Given the description of an element on the screen output the (x, y) to click on. 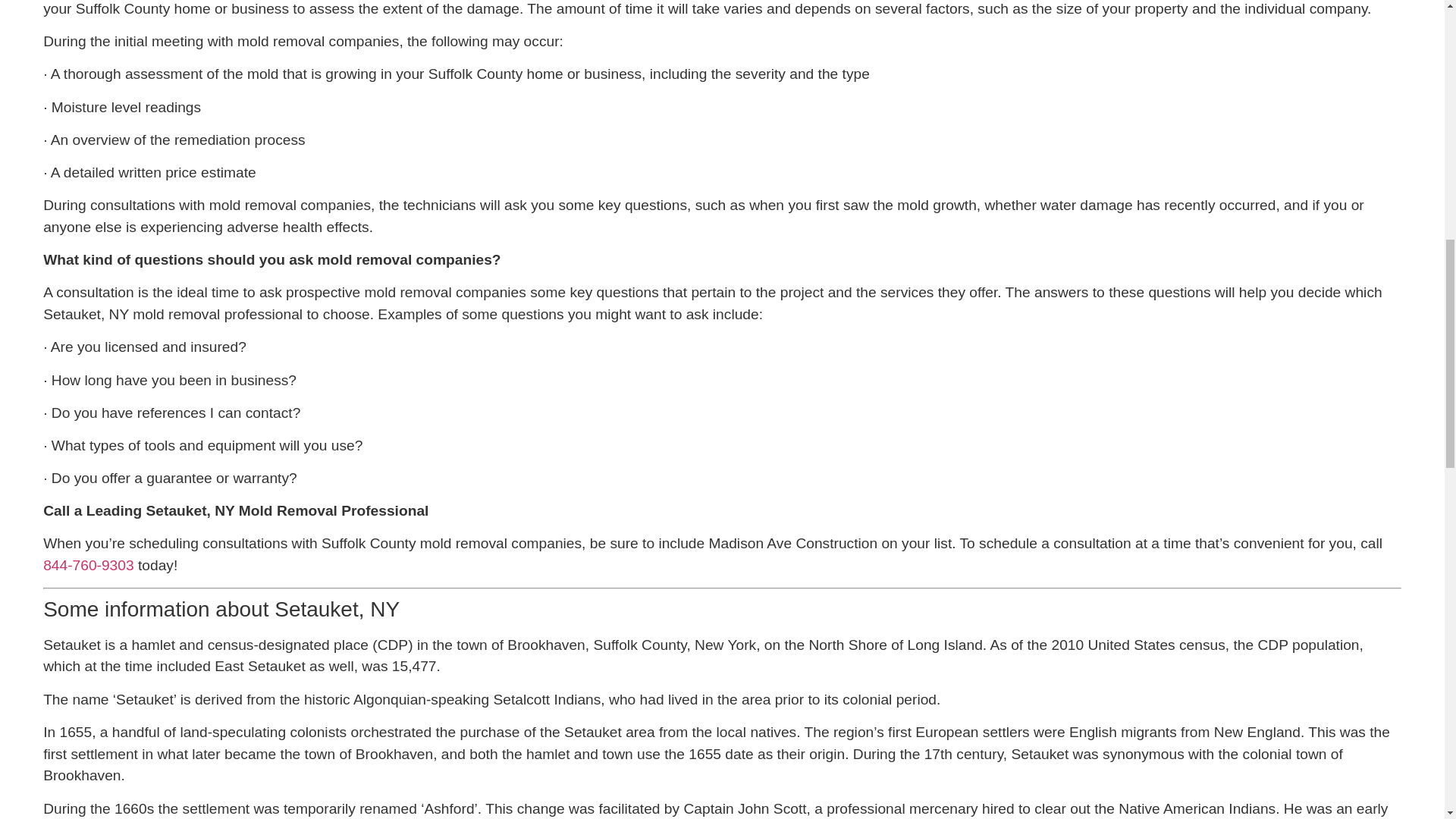
844-760-9303 (88, 565)
